Given the description of an element on the screen output the (x, y) to click on. 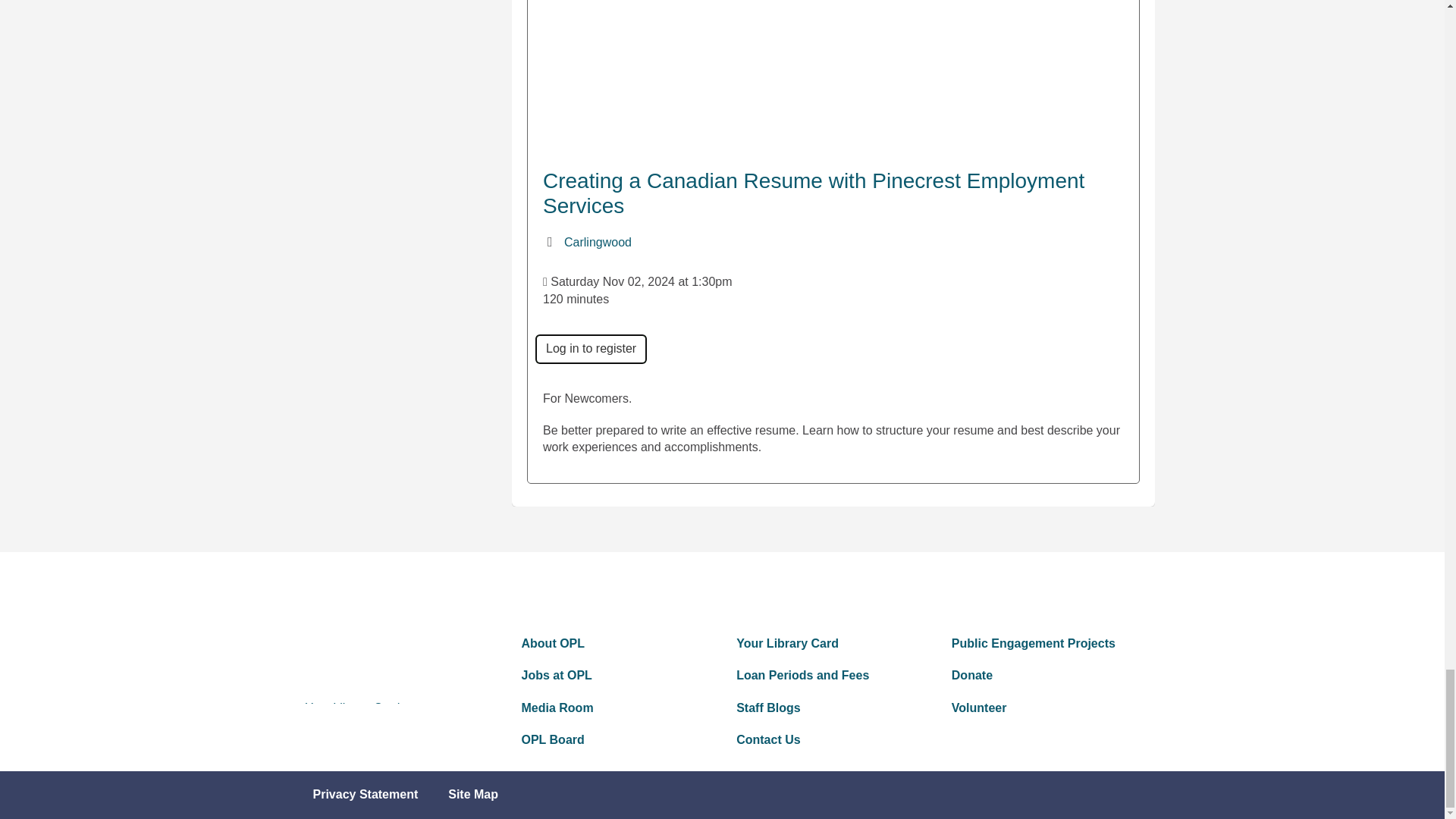
Be a Library Volunteer (1044, 708)
Follow us on Facebook (535, 589)
Mediaroom (614, 708)
Follow us on Twitter (589, 589)
Download our Android app (748, 589)
Follow us on Instagram (695, 589)
Follow us on Pinterest (642, 589)
Download apps from the App stores (802, 589)
Follow us on YouTube (854, 589)
